Given the description of an element on the screen output the (x, y) to click on. 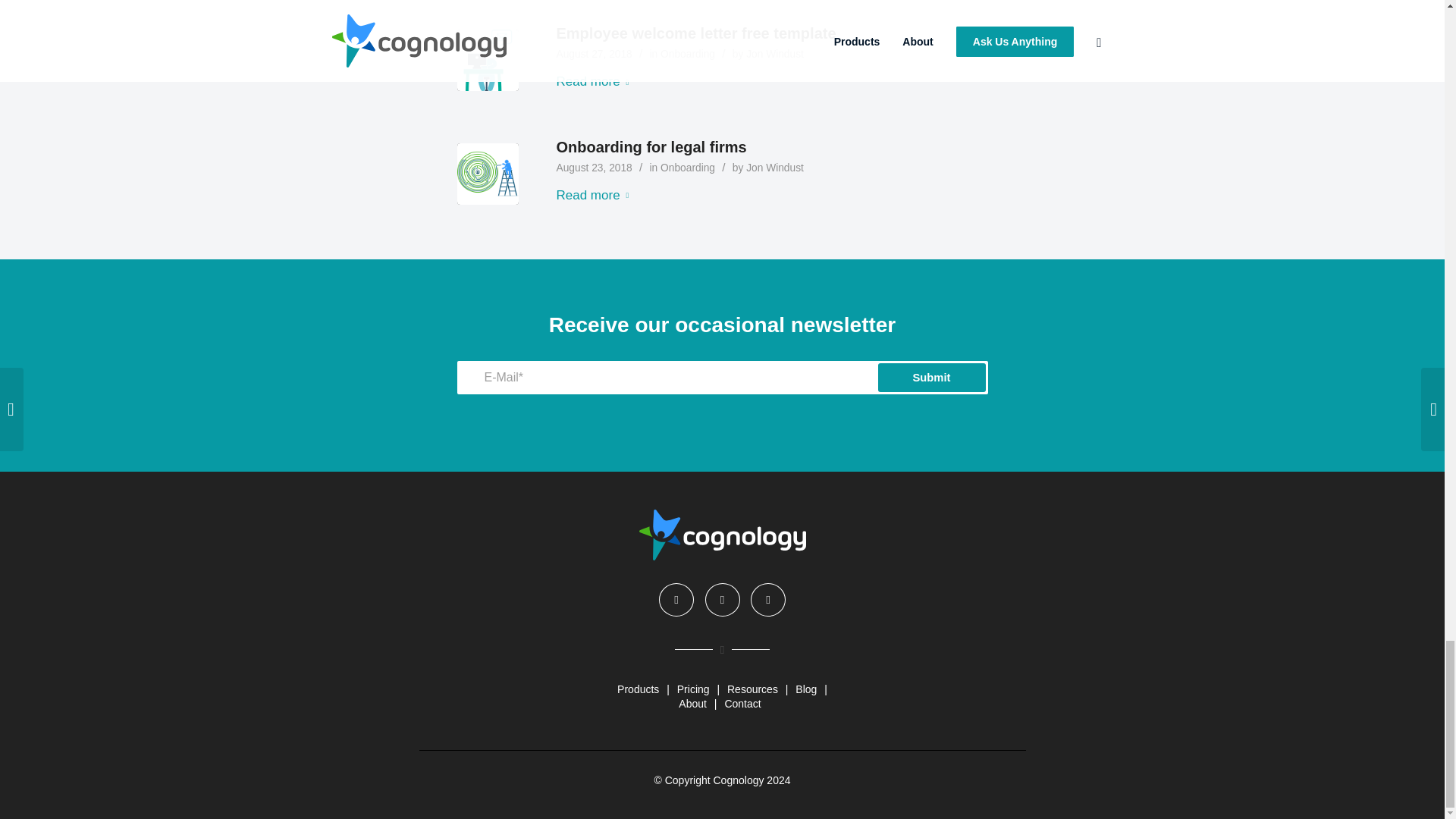
cognology-logo-white (722, 534)
Posts by Jon Windust (774, 167)
Submit (931, 377)
Posts by Jon Windust (774, 53)
